Given the description of an element on the screen output the (x, y) to click on. 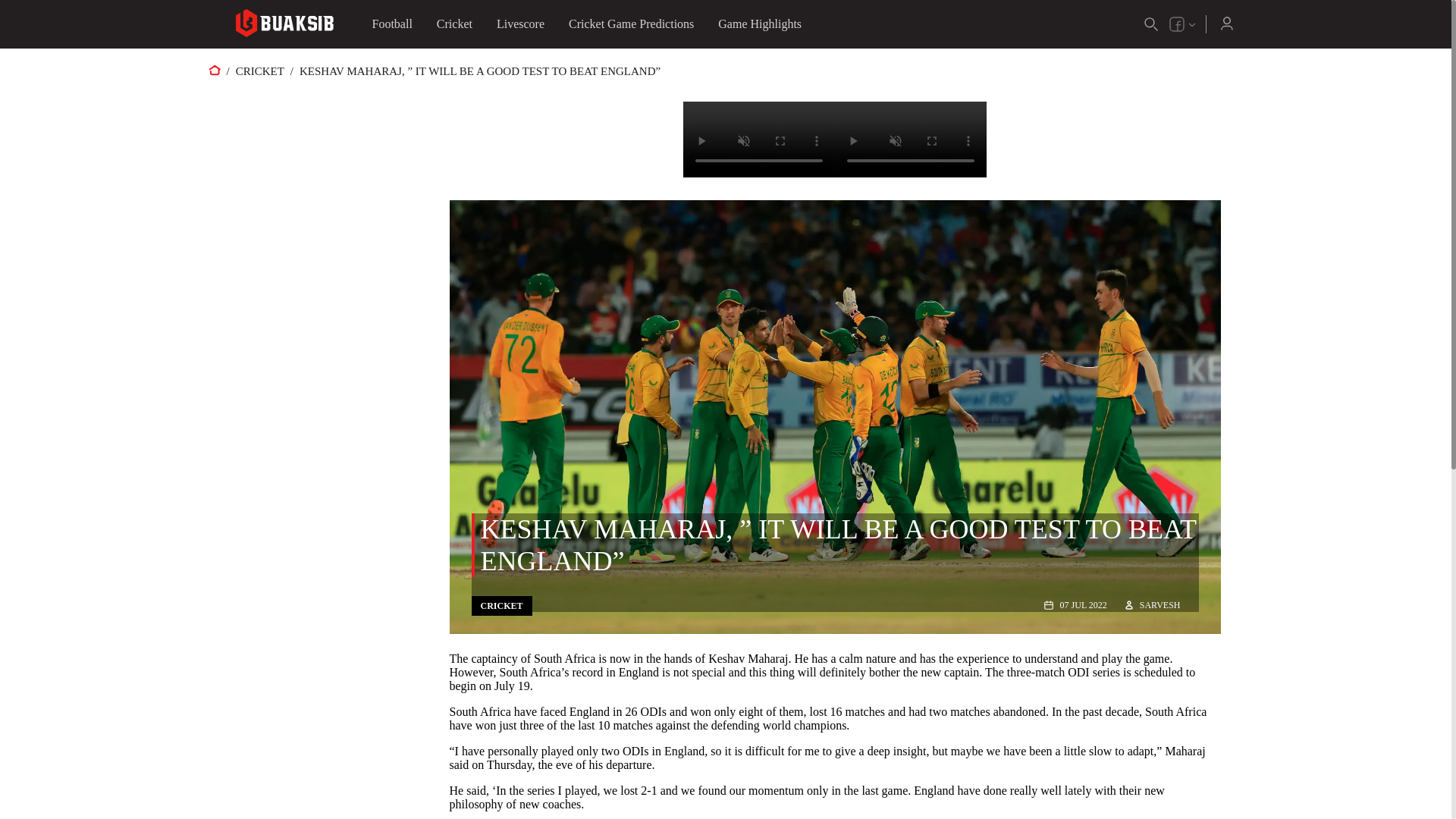
Cricket (454, 24)
Livescore (520, 24)
Football (391, 24)
CRICKET (501, 604)
Game Highlights (759, 24)
Cricket Game Predictions (631, 24)
CRICKET (259, 71)
